Given the description of an element on the screen output the (x, y) to click on. 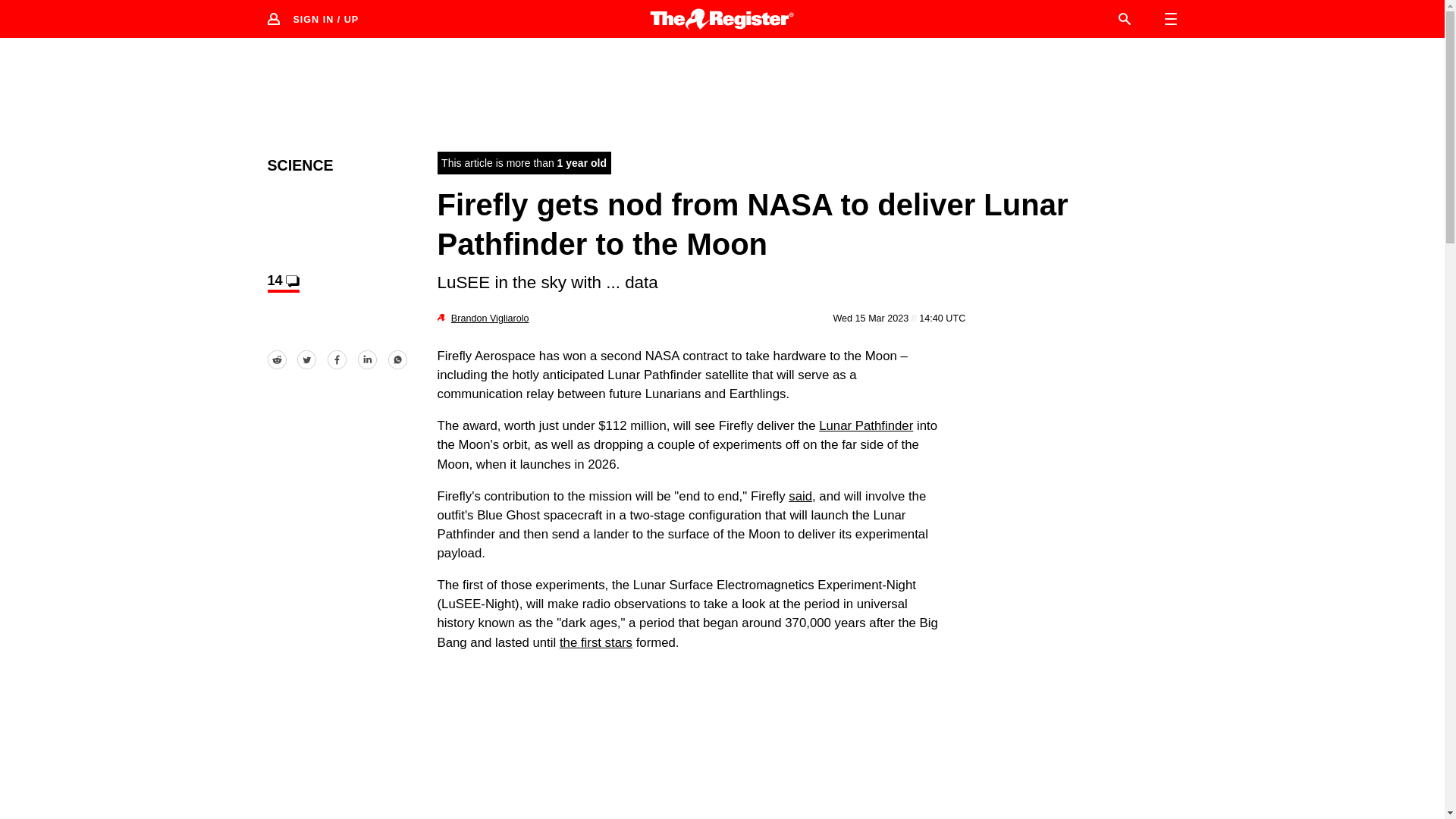
Read more by this author (490, 318)
View comments on this article (282, 282)
